Given the description of an element on the screen output the (x, y) to click on. 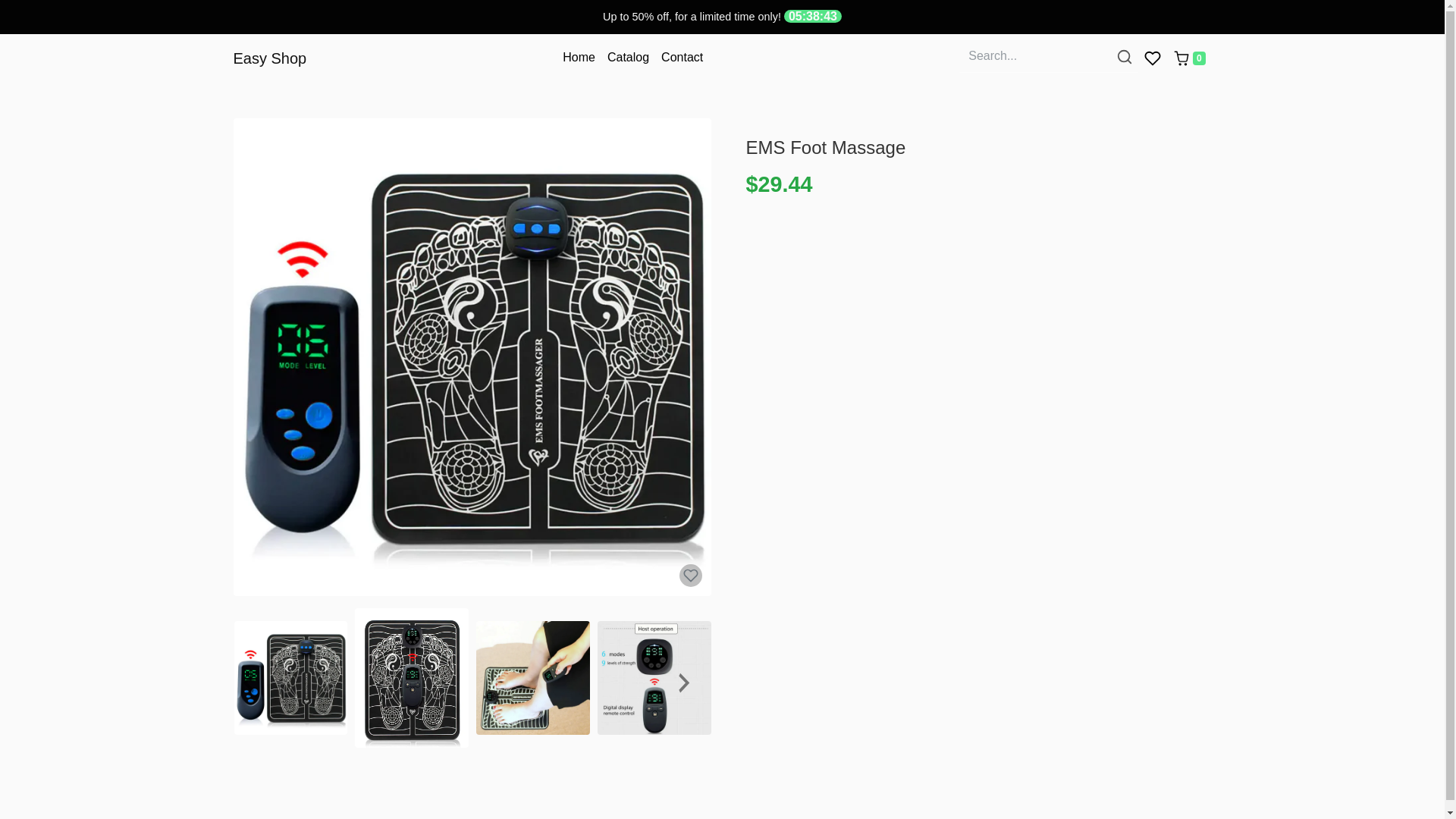
Home (578, 57)
Easy Shop (269, 57)
0 (1189, 58)
Catalog (628, 57)
Contact (682, 57)
